Given the description of an element on the screen output the (x, y) to click on. 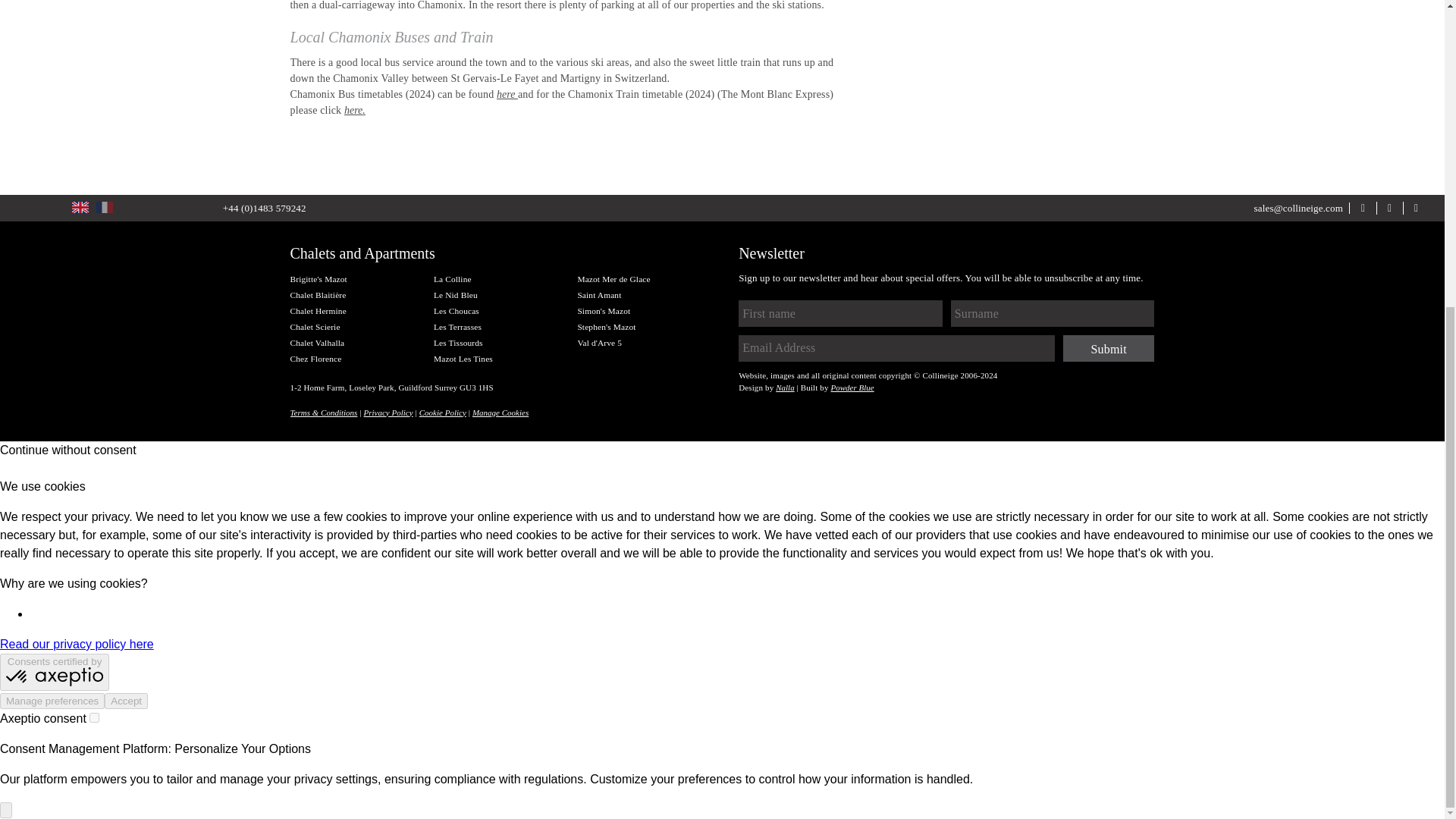
Follow us on Facebook (1362, 207)
Follow us on Instagram (1416, 207)
English (79, 206)
Follow us on Twitter (1389, 207)
Submit (1108, 347)
